Given the description of an element on the screen output the (x, y) to click on. 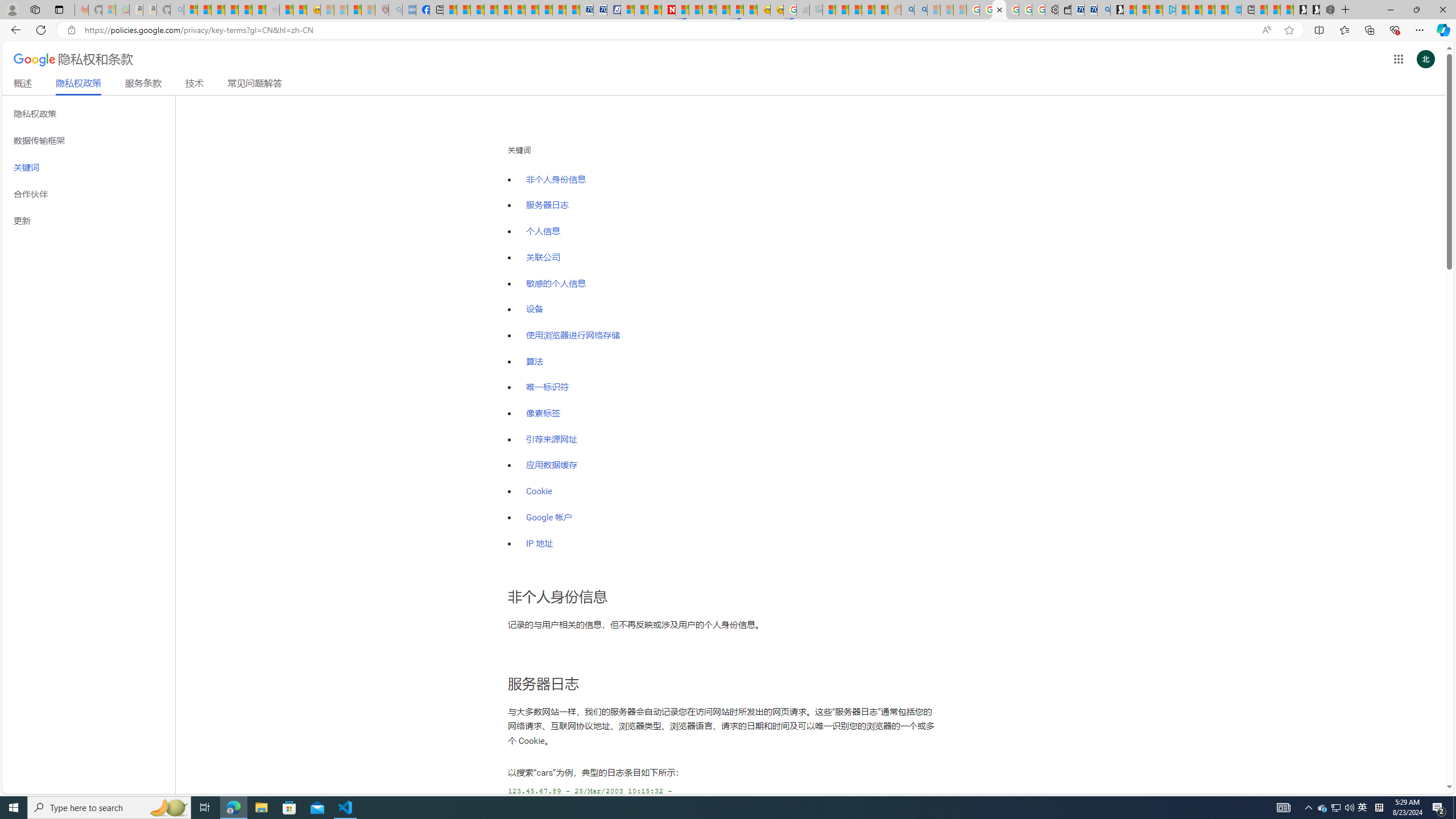
Cheap Hotels - Save70.com (599, 9)
Cheap Car Rentals - Save70.com (1090, 9)
